Given the description of an element on the screen output the (x, y) to click on. 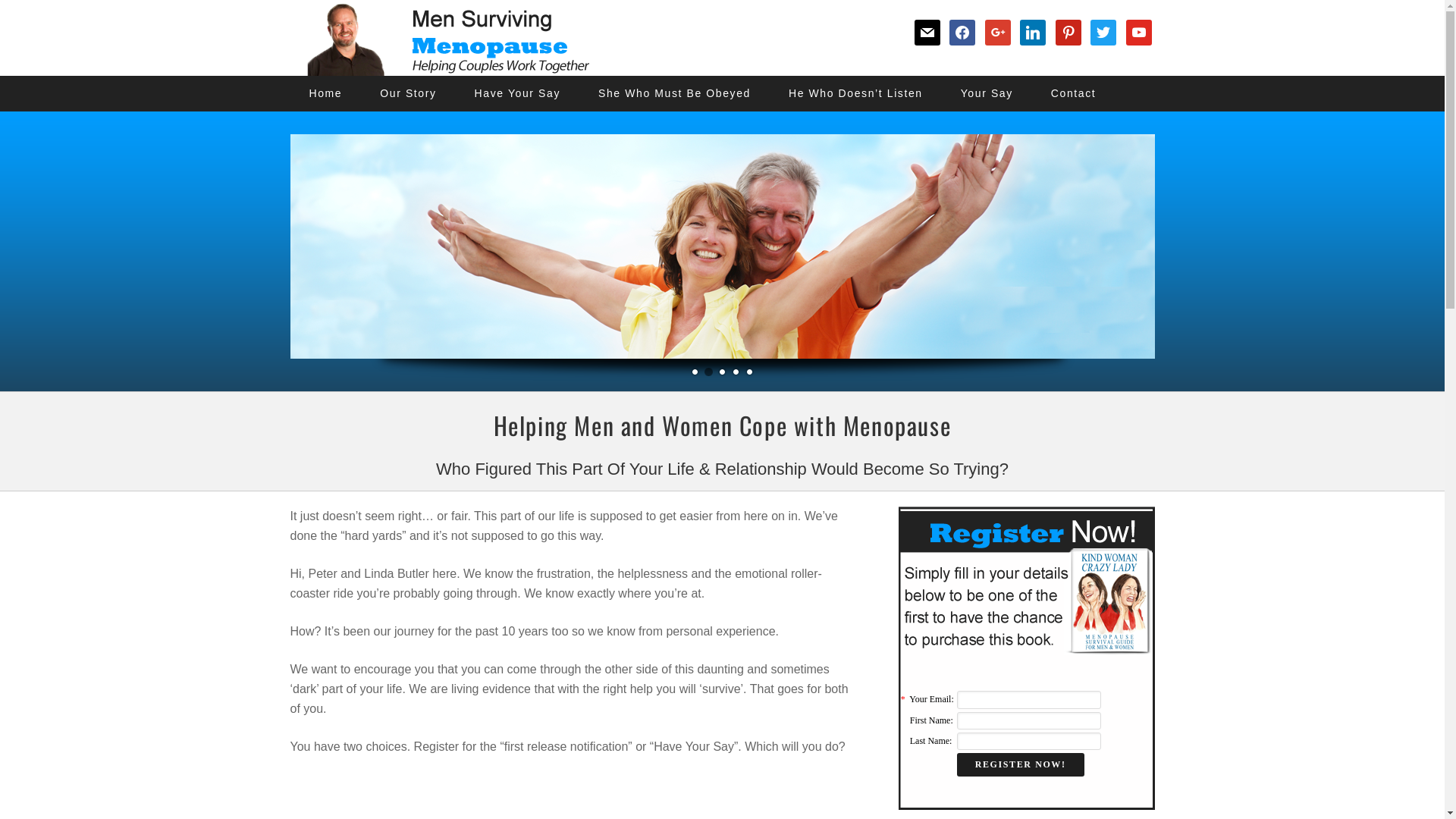
4 Element type: text (735, 372)
1 Element type: text (694, 372)
youtube Element type: text (1138, 31)
twitter Element type: text (1103, 31)
She Who Must Be Obeyed Element type: text (674, 93)
Your Say Element type: text (986, 93)
Contact Element type: text (1073, 93)
pinterest Element type: text (1068, 31)
Our Story Element type: text (407, 93)
facebook Element type: text (962, 31)
Have Your Say Element type: text (517, 93)
2 Element type: text (708, 372)
3 Element type: text (722, 372)
5 Element type: text (749, 372)
Home Element type: text (324, 93)
mail Element type: text (927, 31)
linkedin Element type: text (1032, 31)
Men Surviving Menopause Element type: text (441, 37)
google Element type: text (997, 31)
Register NOW! Element type: text (1020, 764)
